Given the description of an element on the screen output the (x, y) to click on. 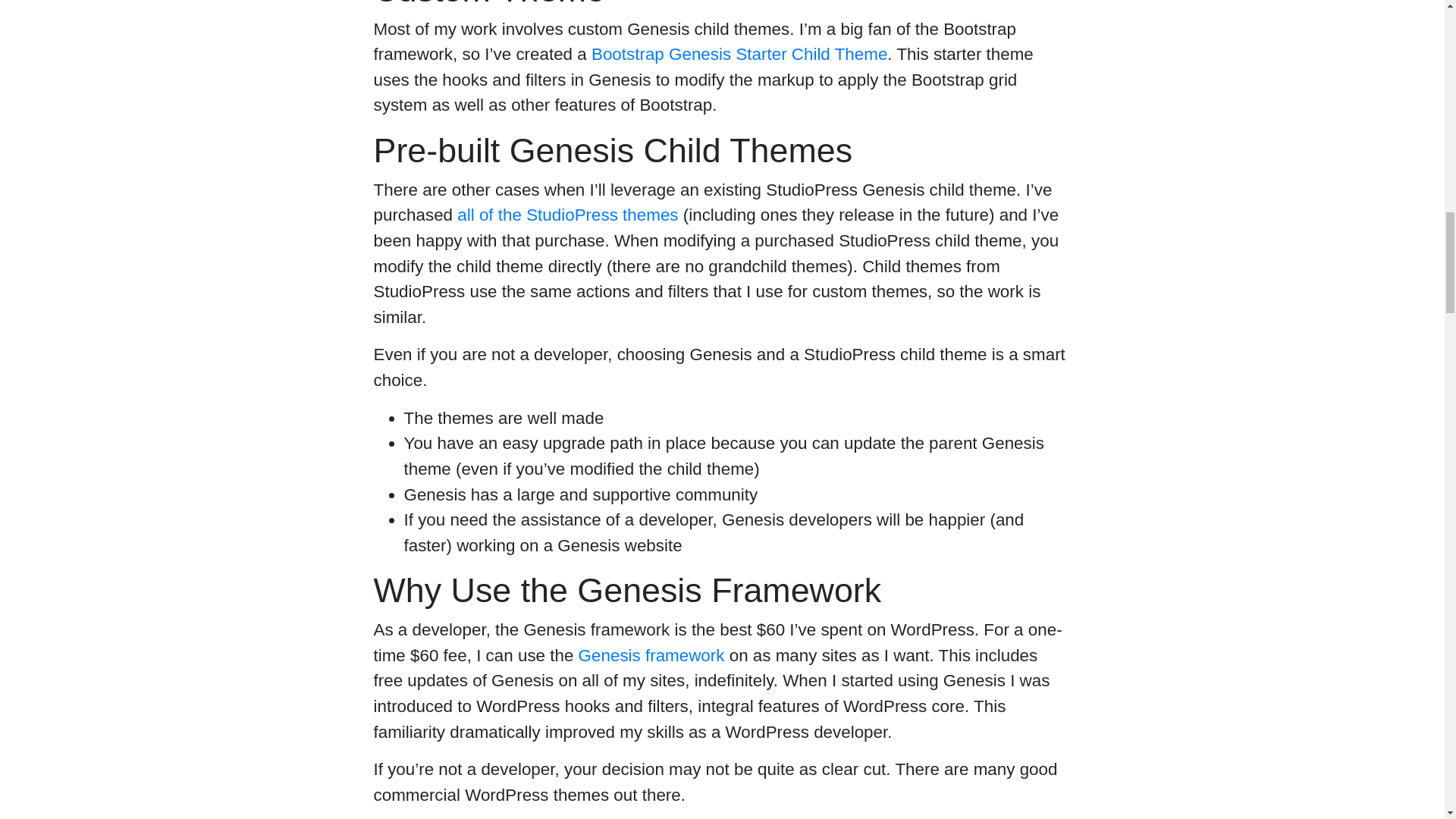
Genesis framework (651, 655)
all of the StudioPress themes (567, 214)
Bootstrap Genesis Starter Child Theme (738, 54)
